Given the description of an element on the screen output the (x, y) to click on. 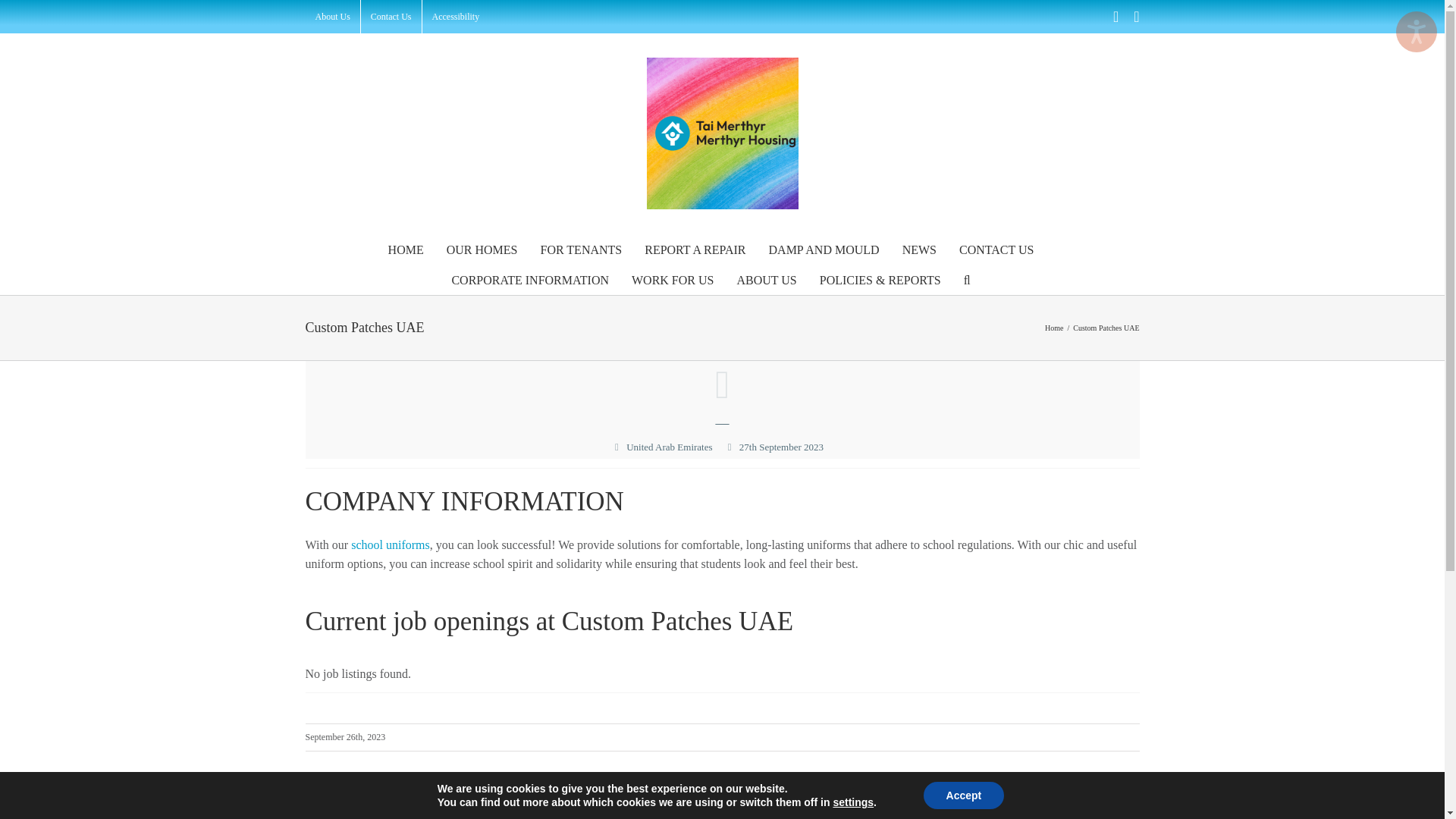
Listen with the ReachDeck Toolbar (1416, 31)
REPORT A REPAIR (695, 248)
NEWS (919, 248)
DAMP AND MOULD (823, 248)
Contact Us (391, 16)
OUR HOMES (482, 248)
About Us (331, 16)
HOME (405, 248)
CONTACT US (996, 248)
